Given the description of an element on the screen output the (x, y) to click on. 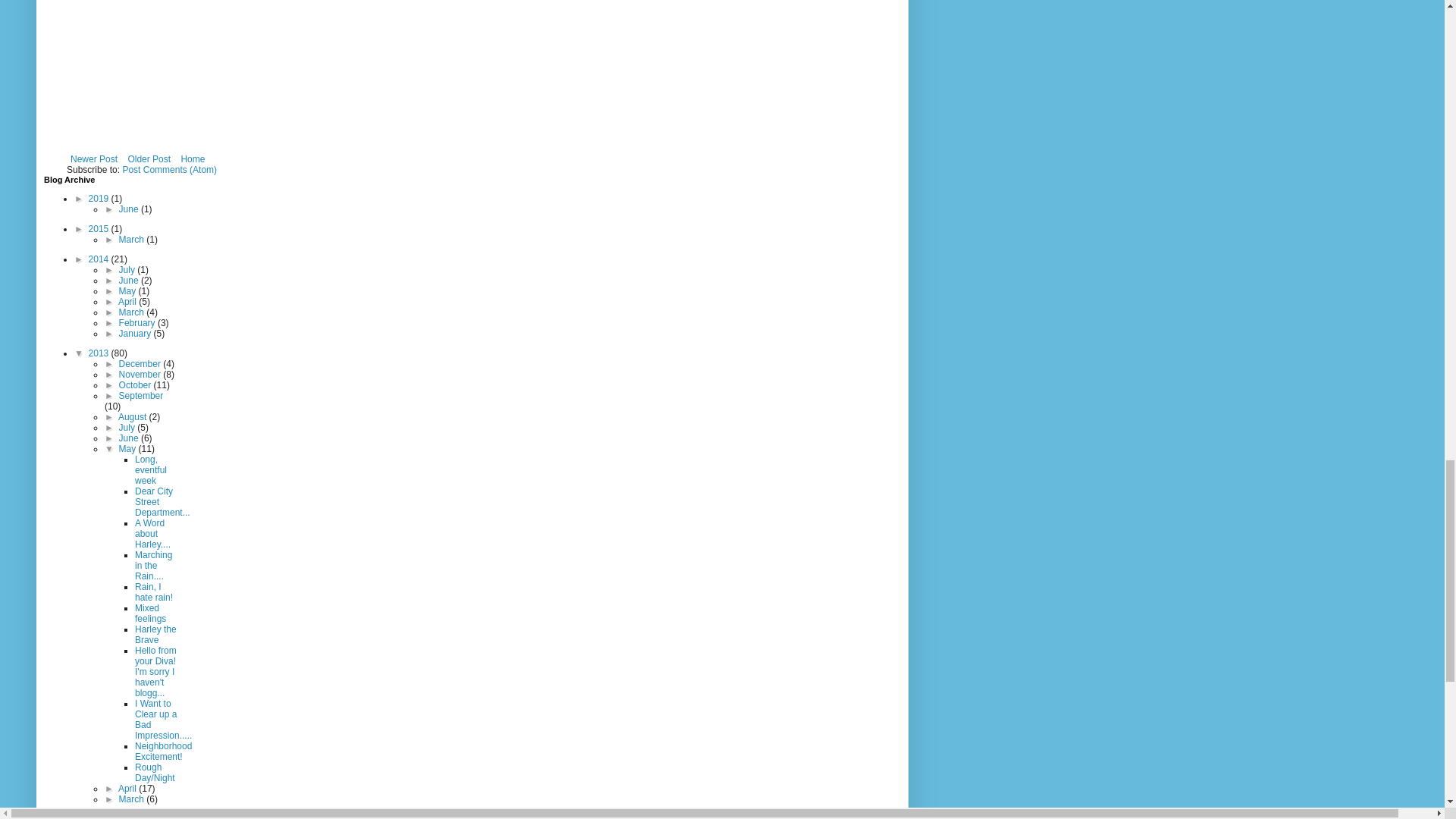
Newer Post (93, 158)
July (128, 269)
2015 (100, 228)
Home (192, 158)
Older Post (148, 158)
2014 (100, 258)
March (133, 239)
2019 (100, 198)
Newer Post (93, 158)
Older Post (148, 158)
June (130, 208)
